Given the description of an element on the screen output the (x, y) to click on. 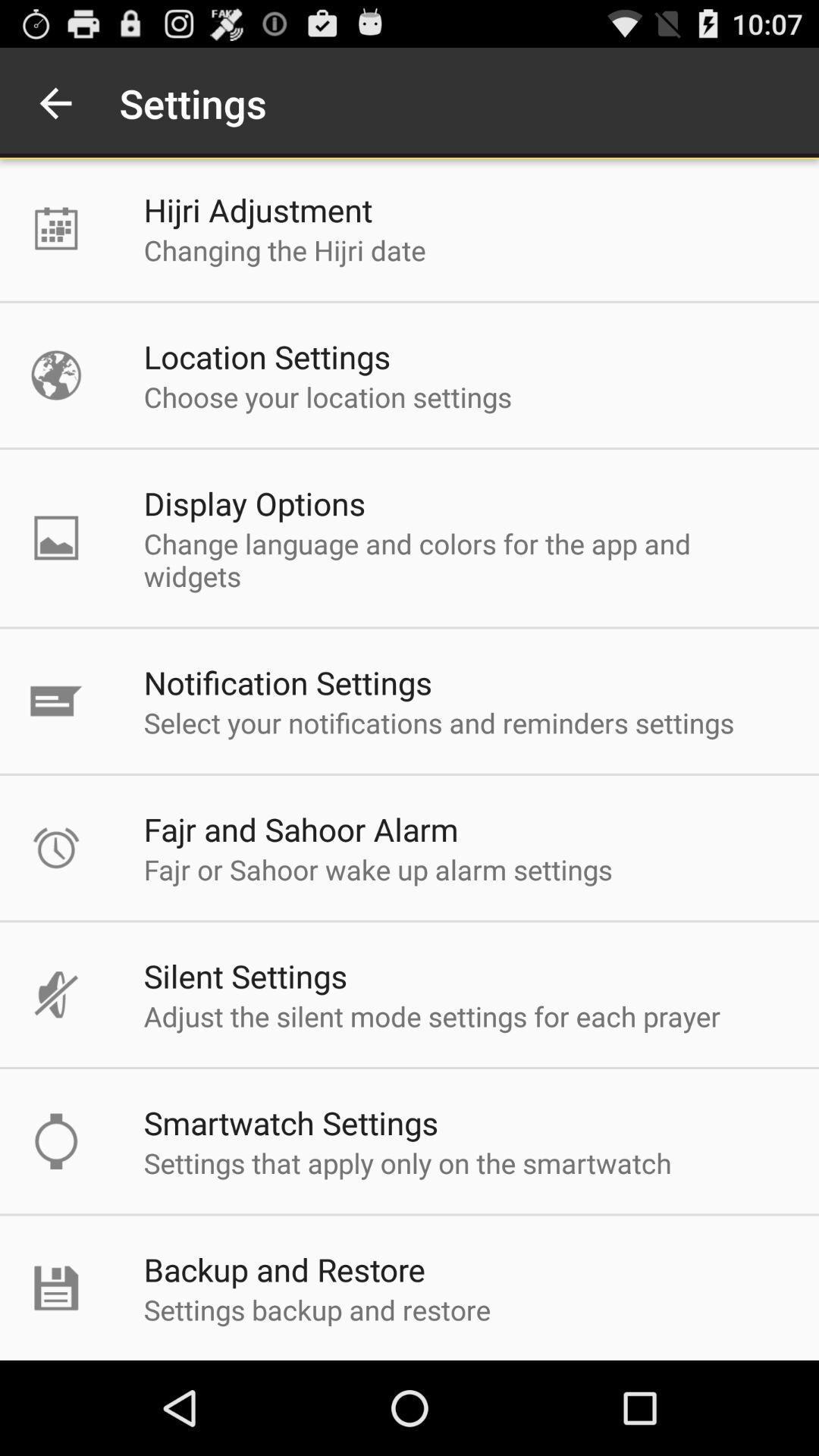
press select your notifications app (438, 722)
